Given the description of an element on the screen output the (x, y) to click on. 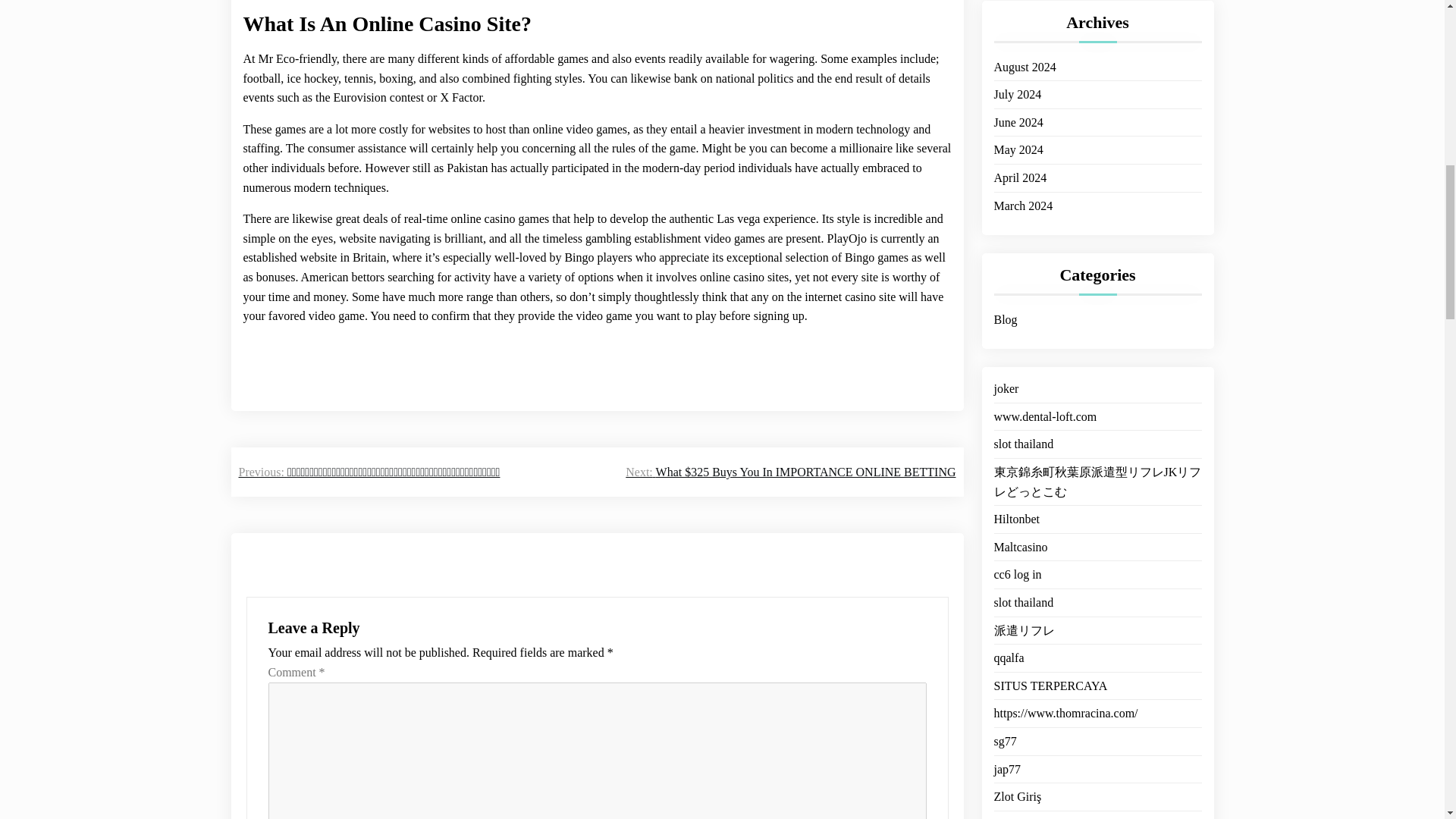
Hiltonbet (1015, 474)
SITUS TERPERCAYA (1049, 639)
August 2024 (1023, 48)
July 2024 (1016, 76)
joker (1004, 370)
slot thailand (1022, 556)
sg77 (1004, 695)
slot thailand (1022, 398)
Maltcasino (1019, 501)
qqalfa (1007, 612)
June 2024 (1017, 104)
Blog (1004, 301)
cc6 log in (1016, 528)
March 2024 (1022, 188)
May 2024 (1017, 131)
